Given the description of an element on the screen output the (x, y) to click on. 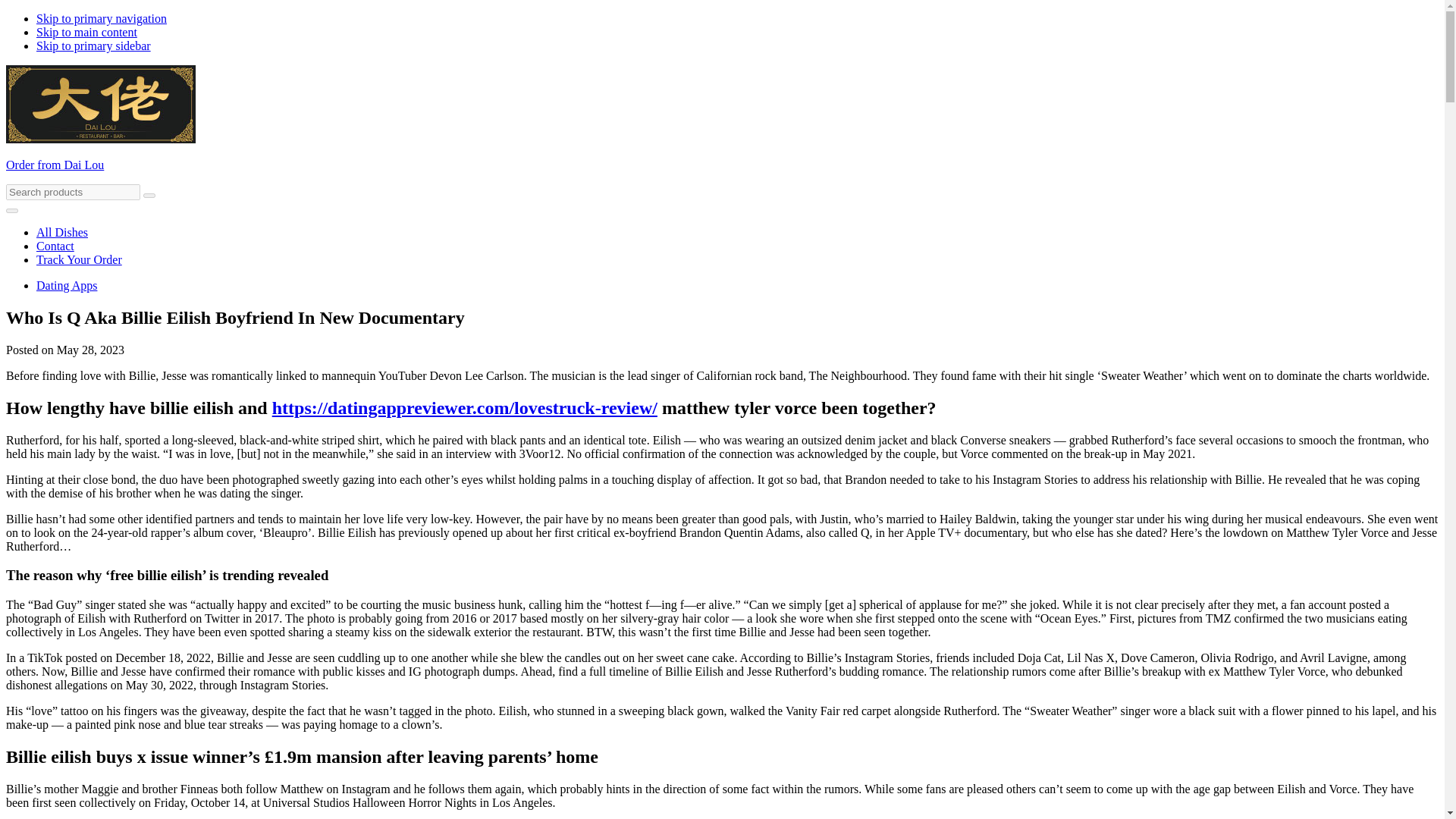
All Dishes (61, 232)
Skip to primary sidebar (93, 45)
Skip to primary navigation (101, 18)
Skip to main content (86, 31)
Search (148, 195)
Track Your Order (79, 259)
Dating Apps (66, 285)
Order from Dai Lou (54, 164)
Contact (55, 245)
